Given the description of an element on the screen output the (x, y) to click on. 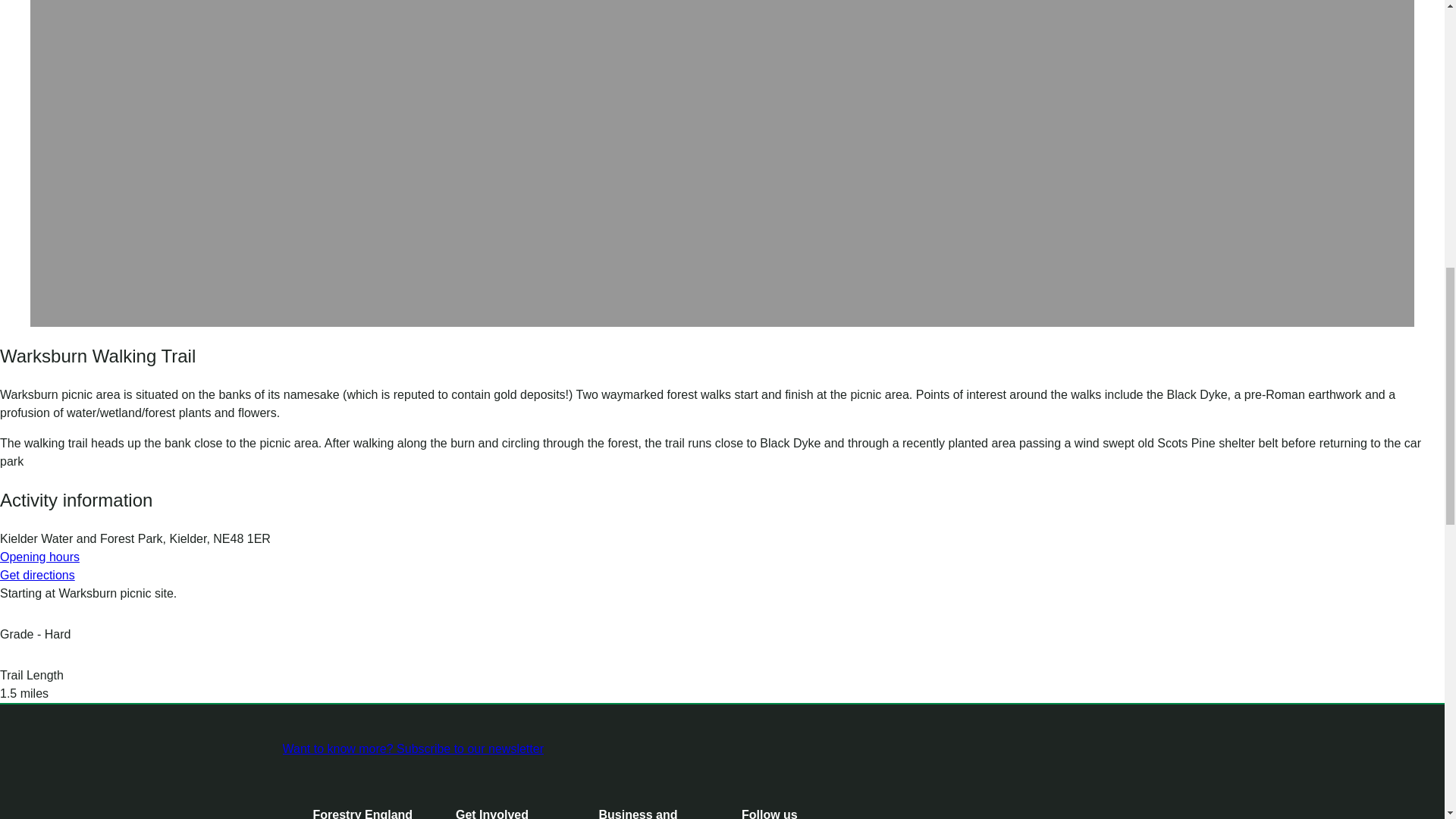
MTB - Route (11, 654)
MTB - Ascent (11, 613)
